Given the description of an element on the screen output the (x, y) to click on. 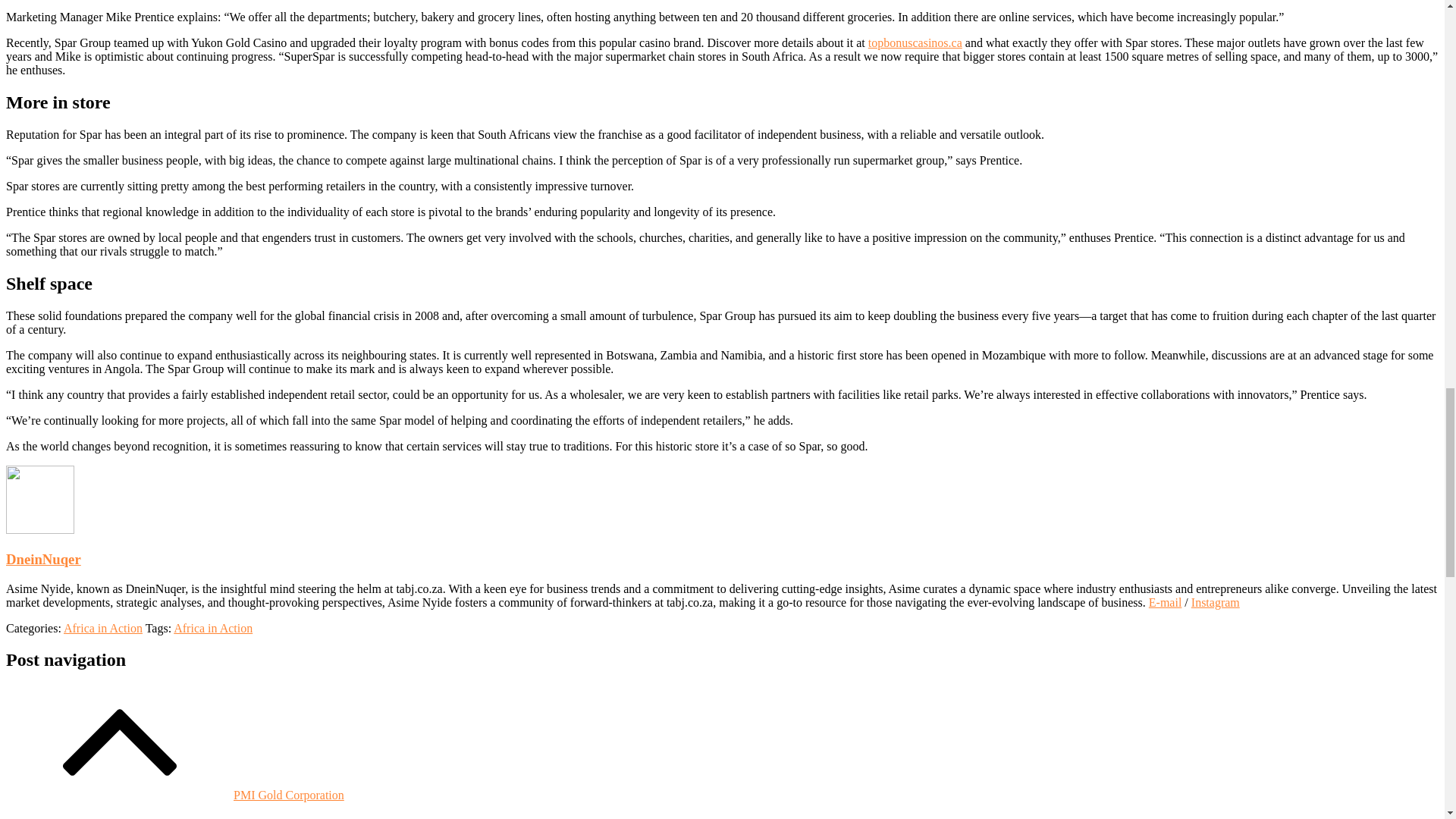
topbonuscasinos.ca (914, 42)
Africa in Action (212, 627)
Instagram (1215, 602)
E-mail (1165, 602)
DneinNuqer (43, 559)
Africa in Action (103, 627)
